Given the description of an element on the screen output the (x, y) to click on. 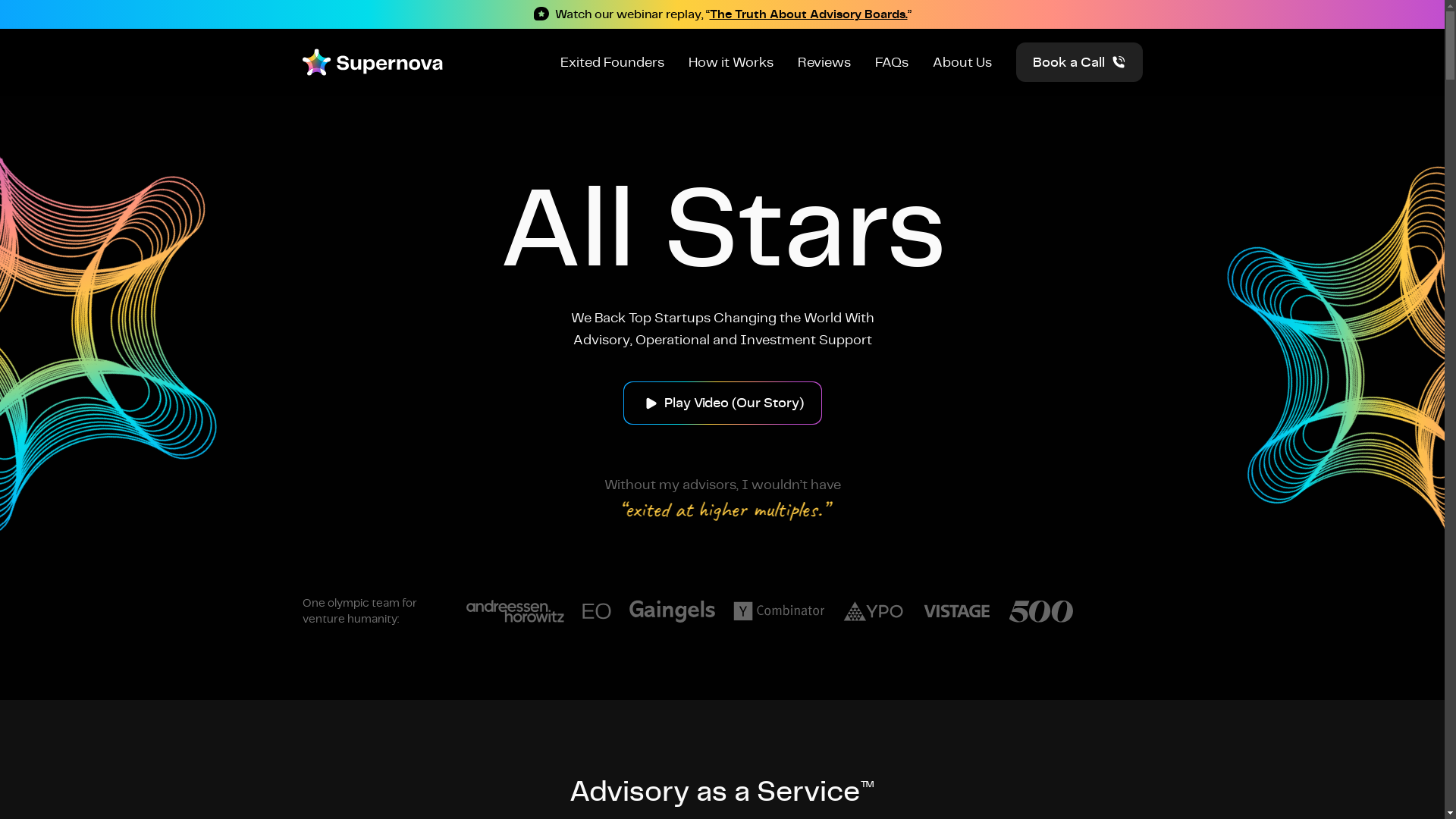
About Us Element type: text (962, 61)
Reviews Element type: text (823, 61)
How it Works Element type: text (730, 61)
Book a Call Element type: text (1079, 61)
The Truth About Advisory Boards. Element type: text (808, 13)
Play Video (Our Story) Element type: text (722, 401)
Exited Founders Element type: text (611, 61)
FAQs Element type: text (891, 61)
